Given the description of an element on the screen output the (x, y) to click on. 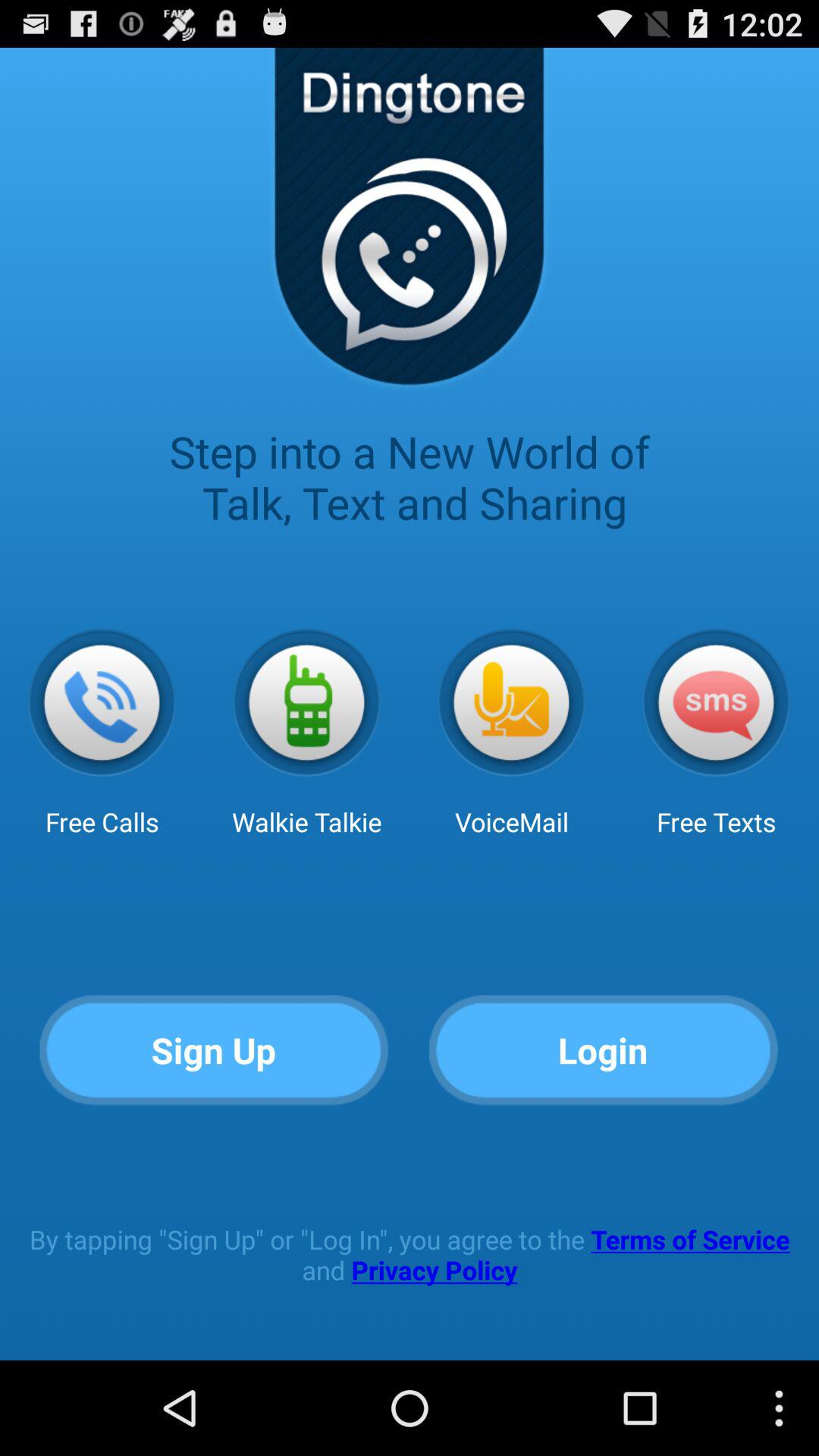
tap by tapping sign at the bottom (409, 1254)
